Given the description of an element on the screen output the (x, y) to click on. 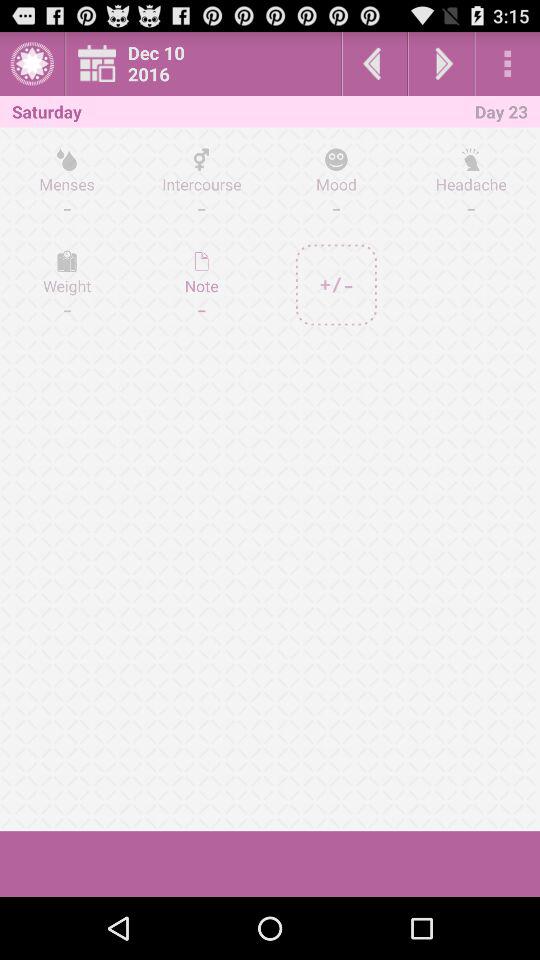
go next button (441, 63)
